Given the description of an element on the screen output the (x, y) to click on. 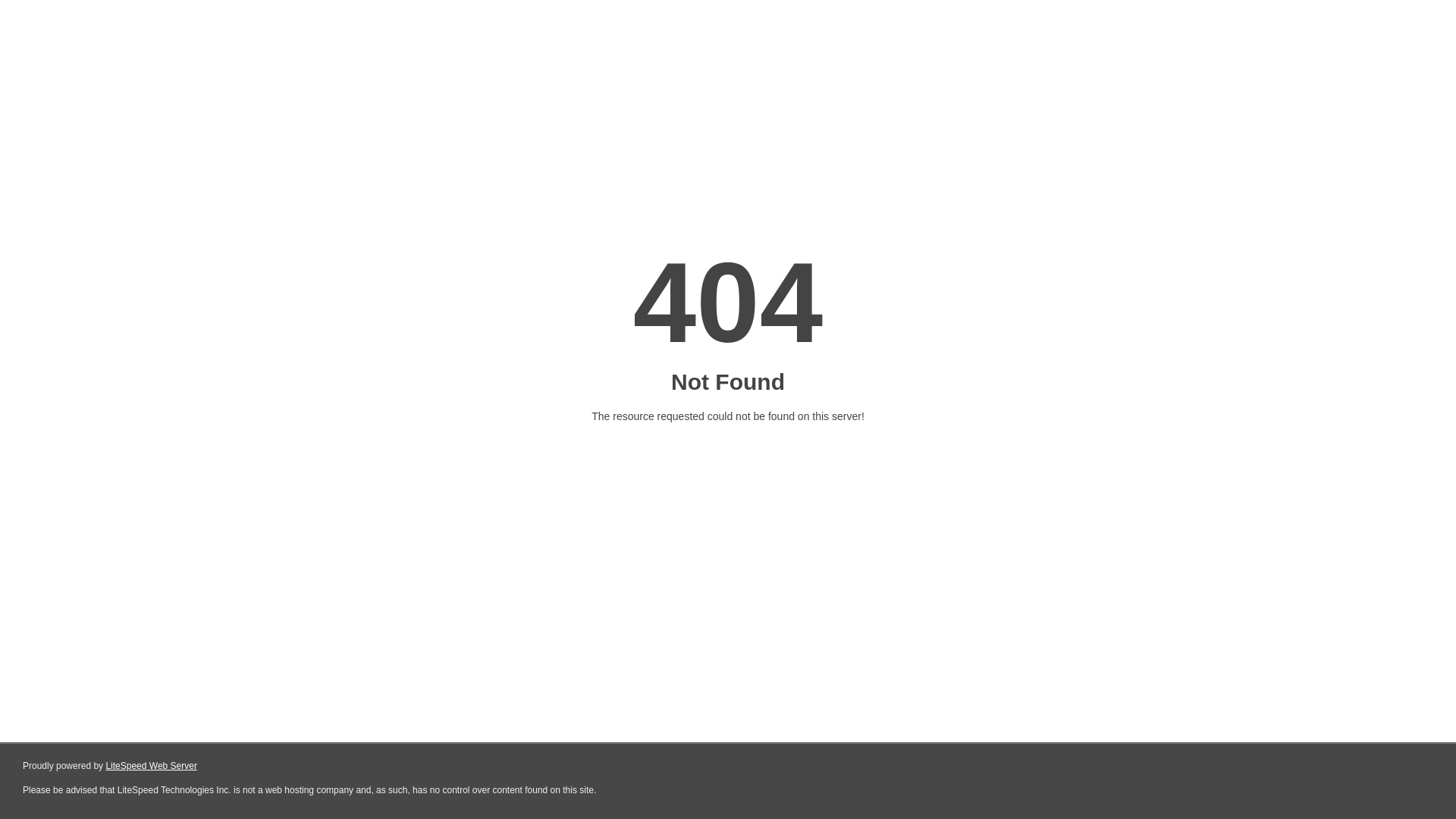
LiteSpeed Web Server Element type: text (151, 765)
